Given the description of an element on the screen output the (x, y) to click on. 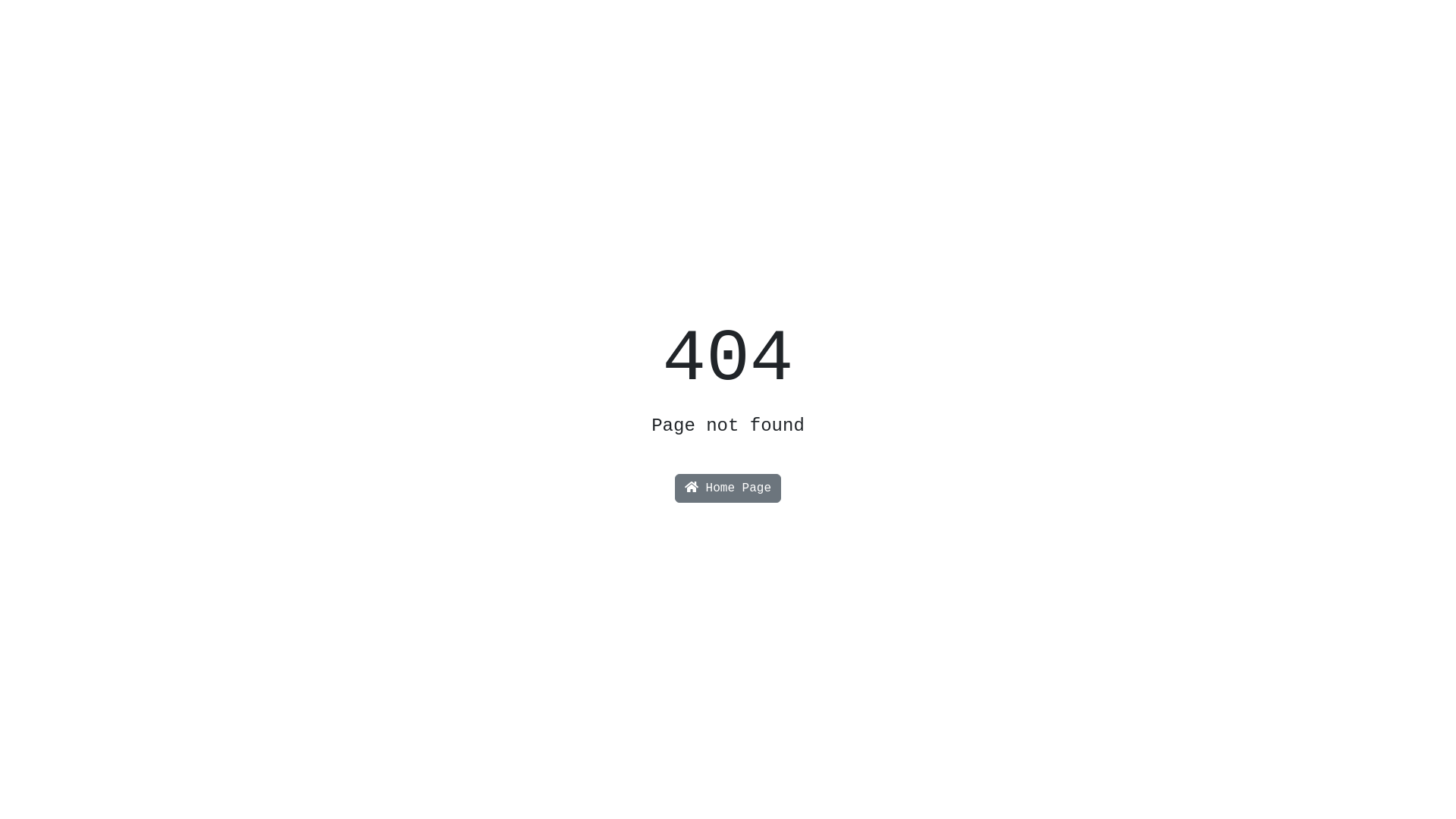
Home Page Element type: text (727, 487)
